Given the description of an element on the screen output the (x, y) to click on. 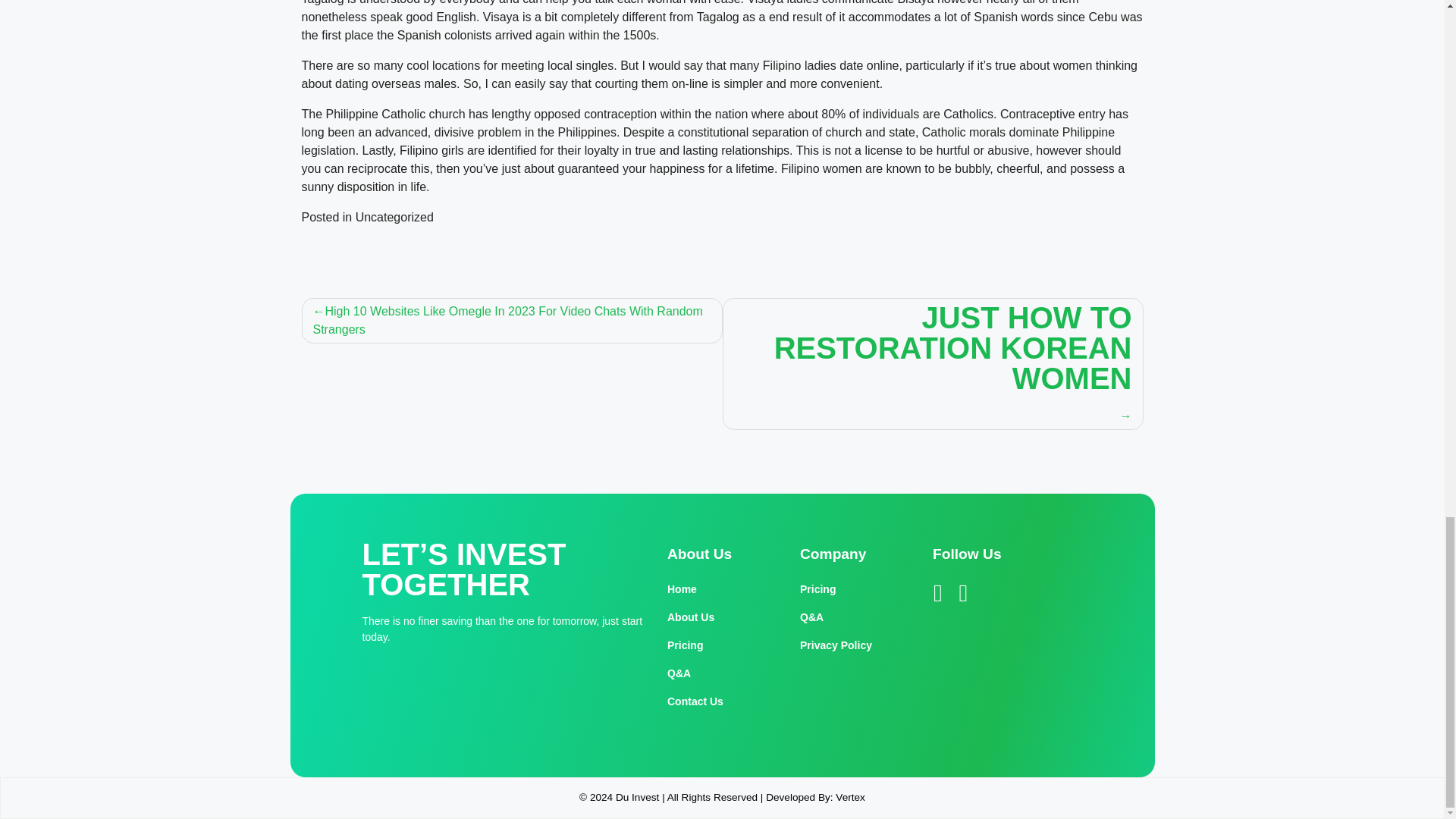
JUST HOW TO RESTORATION KOREAN WOMEN (932, 363)
Du Invest (637, 797)
Contact Us (721, 701)
Vertex (849, 797)
Pricing (721, 645)
About Us (721, 617)
Home (721, 589)
Privacy Policy (854, 645)
Pricing (854, 589)
